Given the description of an element on the screen output the (x, y) to click on. 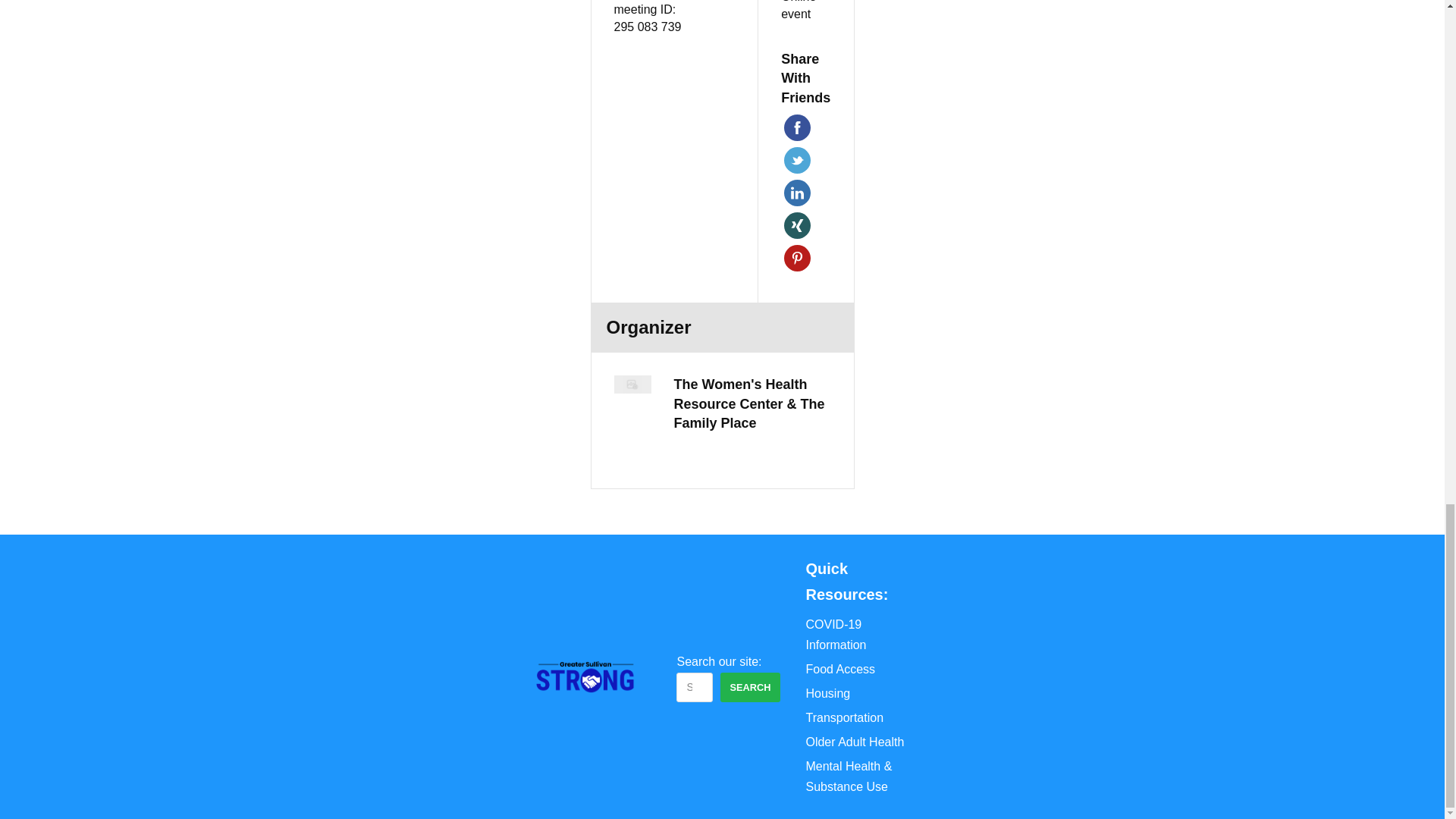
Share this page on Linkedin (797, 192)
Share this page on Facebook (797, 127)
Share this page on Twitter (797, 160)
Share this page on Xing (797, 225)
Share this page on Pinterest (797, 257)
